Given the description of an element on the screen output the (x, y) to click on. 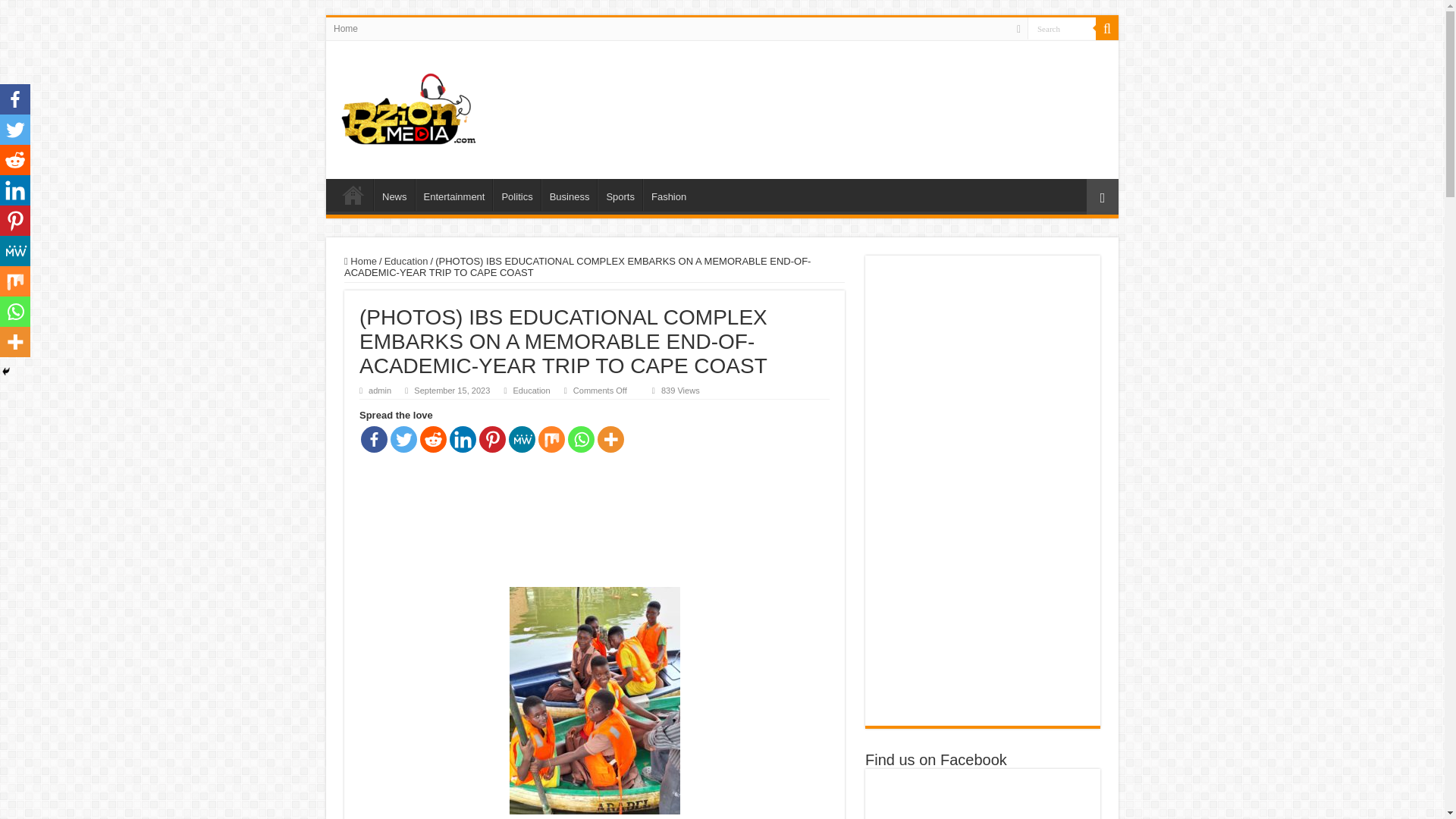
Twitter (403, 438)
Whatsapp (580, 438)
Fashion (668, 194)
Search (1061, 28)
Facebook (374, 438)
Sports (619, 194)
Search (1107, 28)
News (394, 194)
Reddit (433, 438)
Pinterest (492, 438)
